Given the description of an element on the screen output the (x, y) to click on. 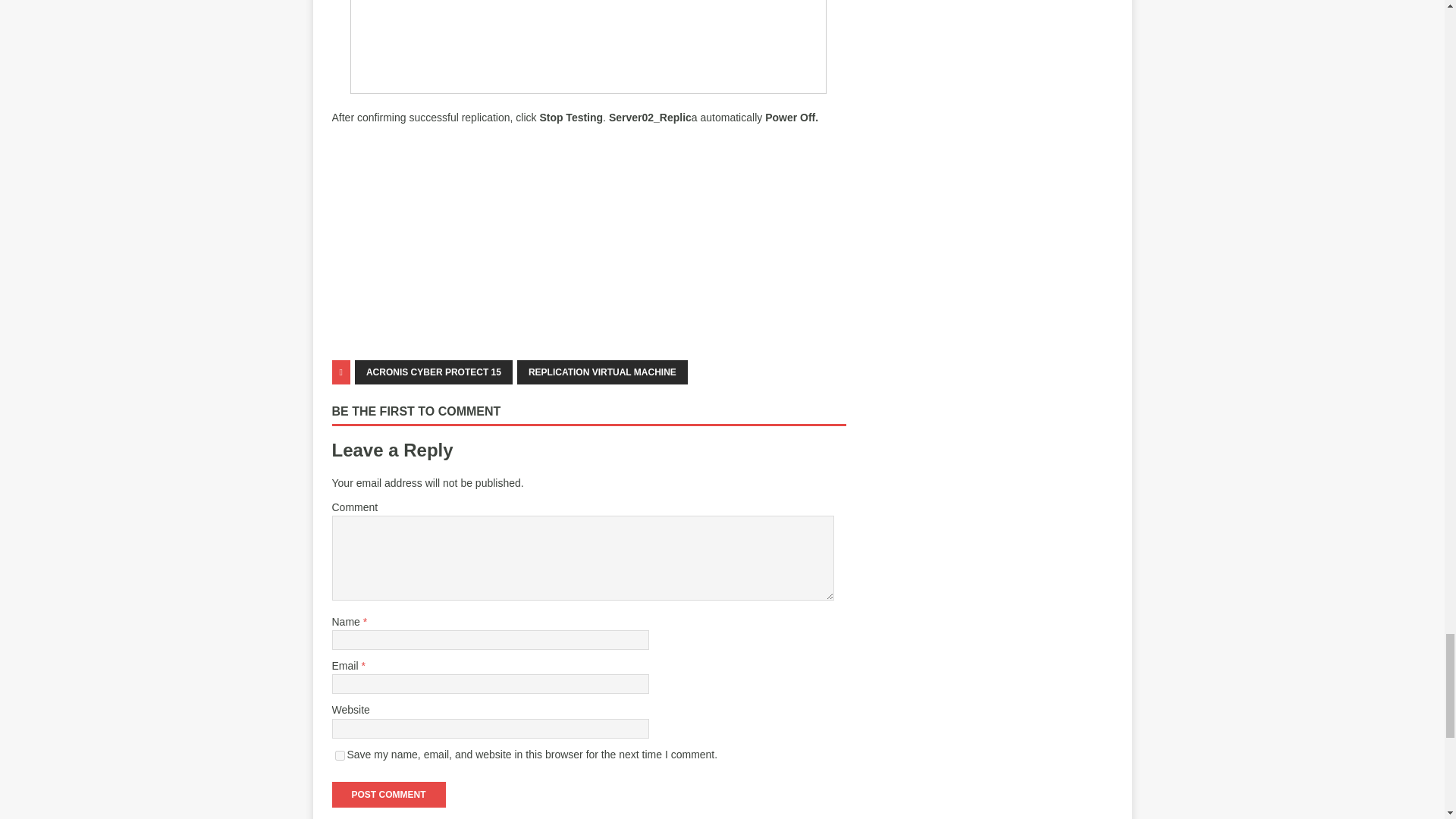
Post Comment (388, 794)
Post Comment (388, 794)
ACRONIS CYBER PROTECT 15 (433, 372)
yes (339, 755)
REPLICATION VIRTUAL MACHINE (601, 372)
